Given the description of an element on the screen output the (x, y) to click on. 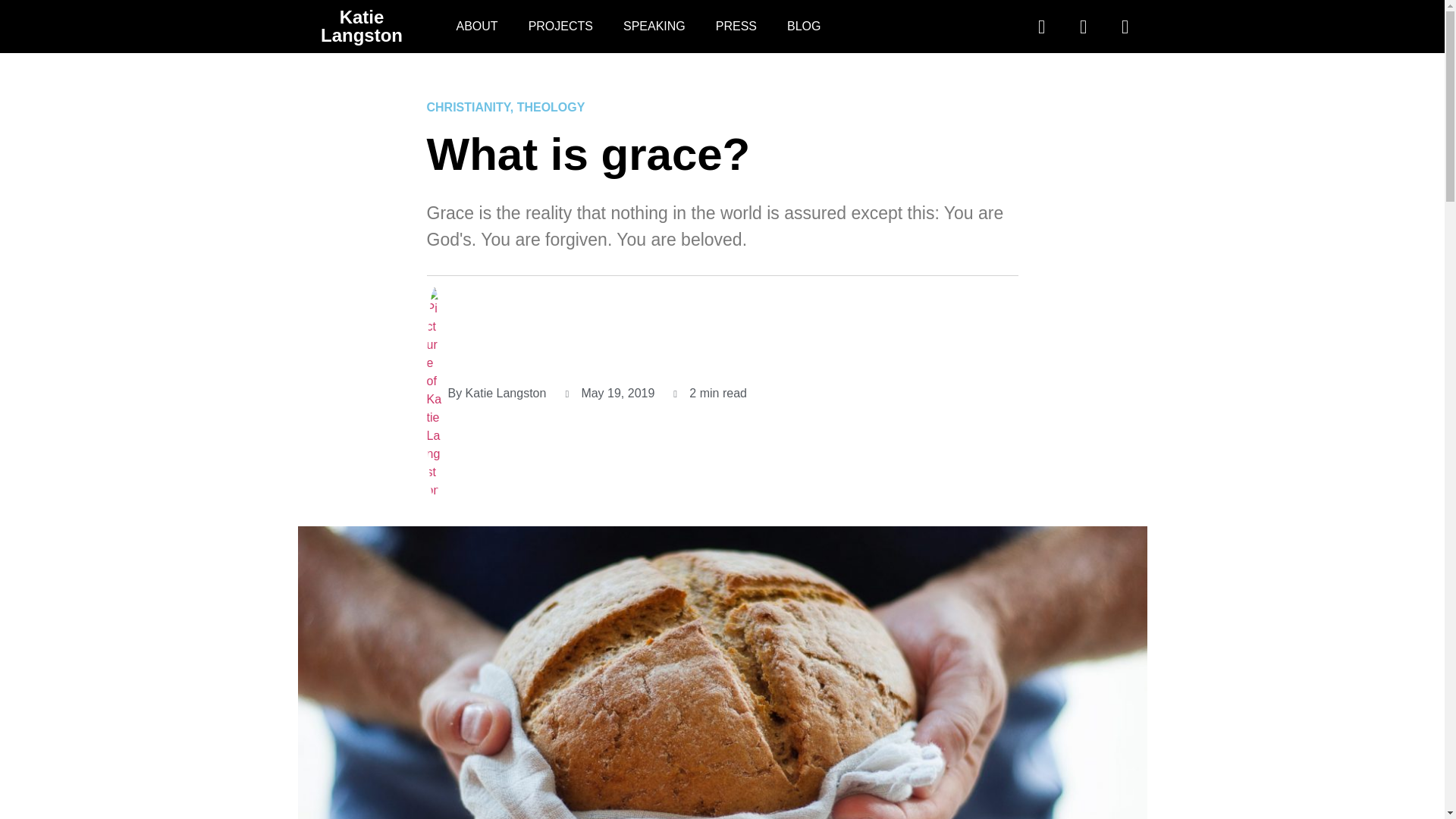
May 19, 2019 (608, 393)
THEOLOGY (550, 106)
PROJECTS (560, 26)
SPEAKING (654, 26)
Katie Langston (361, 25)
CHRISTIANITY (467, 106)
PRESS (735, 26)
ABOUT (477, 26)
BLOG (803, 26)
